Given the description of an element on the screen output the (x, y) to click on. 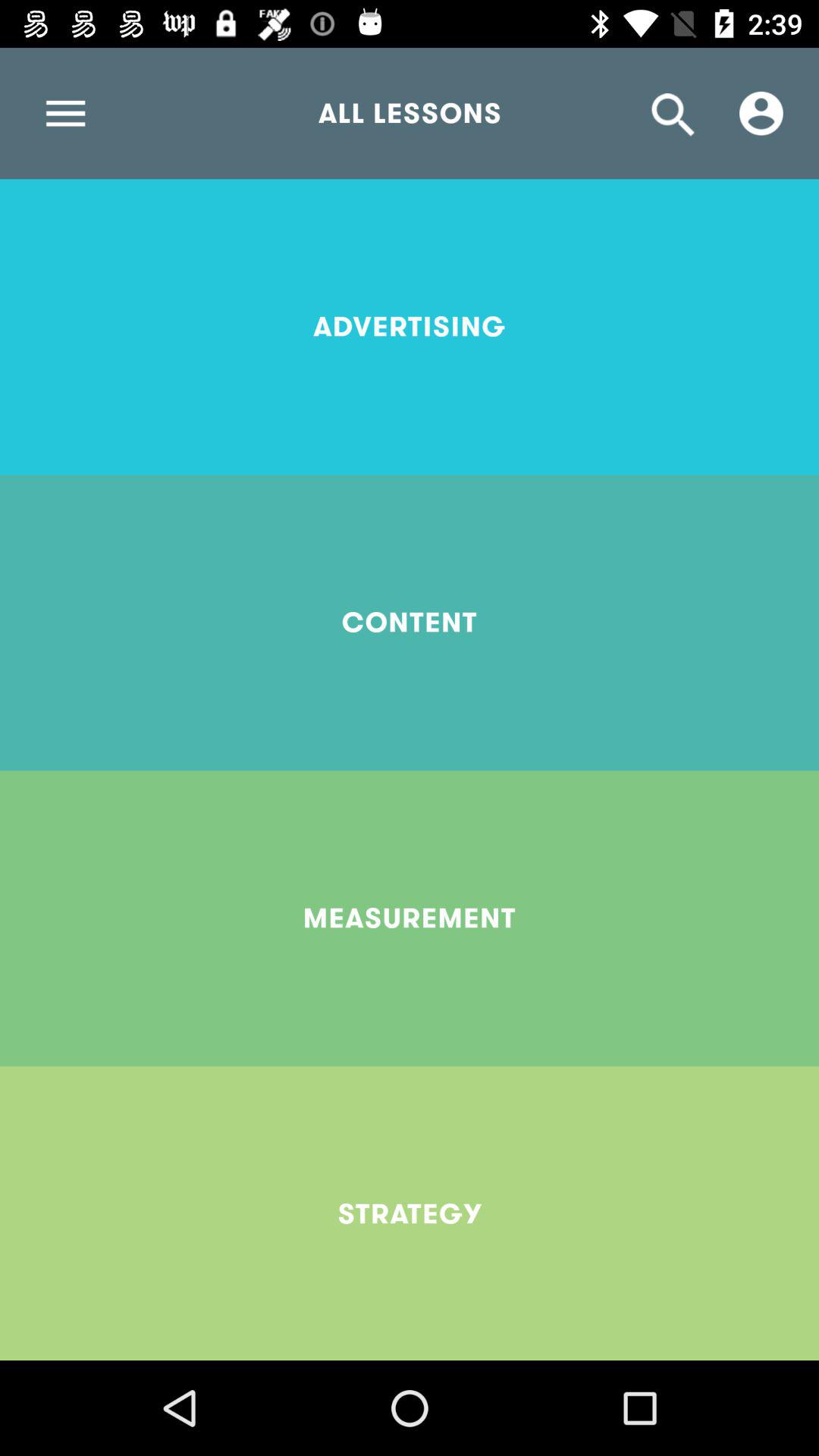
click the item next to the all lessons item (761, 113)
